Given the description of an element on the screen output the (x, y) to click on. 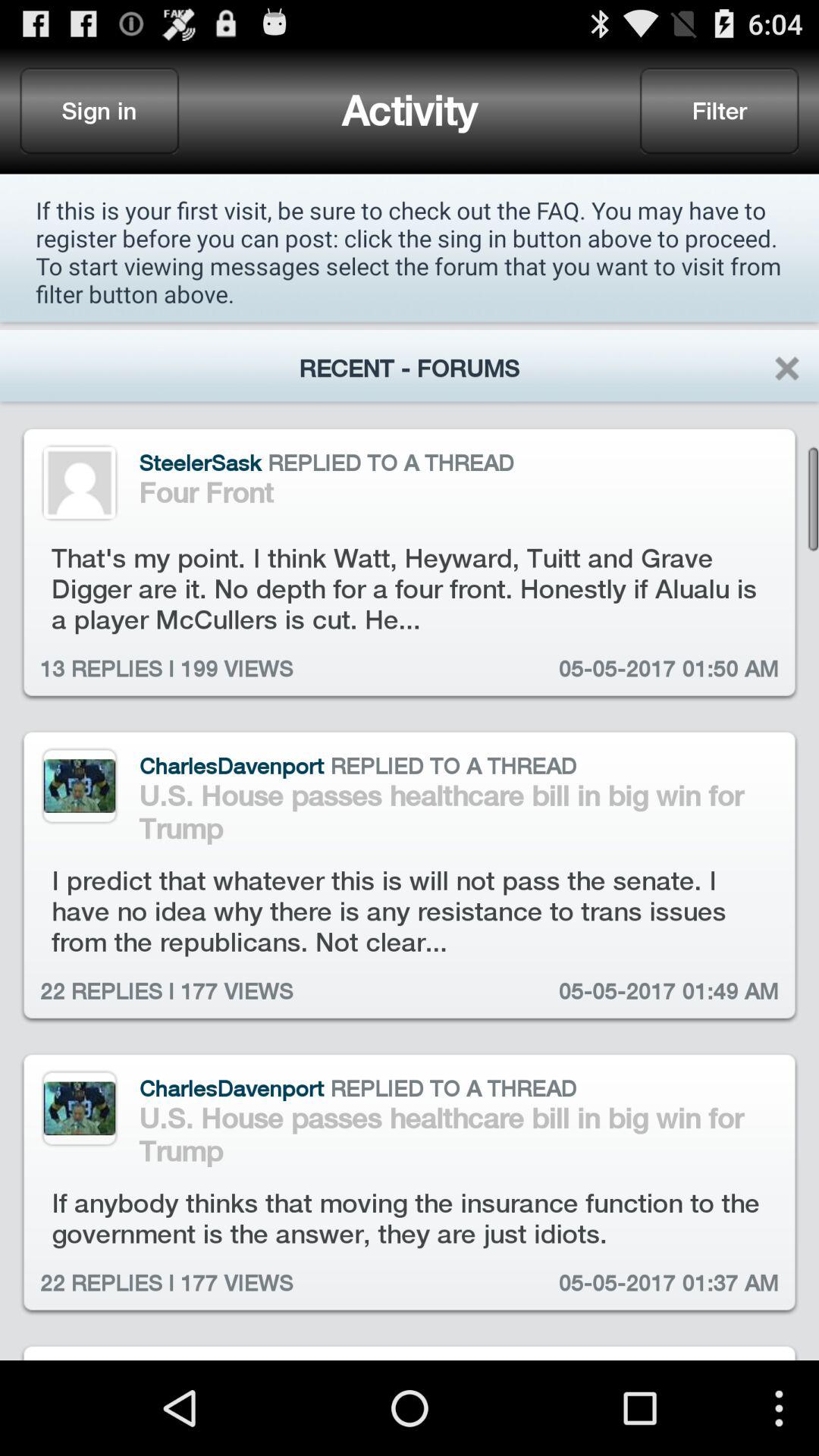
click profile picture (79, 1108)
